Given the description of an element on the screen output the (x, y) to click on. 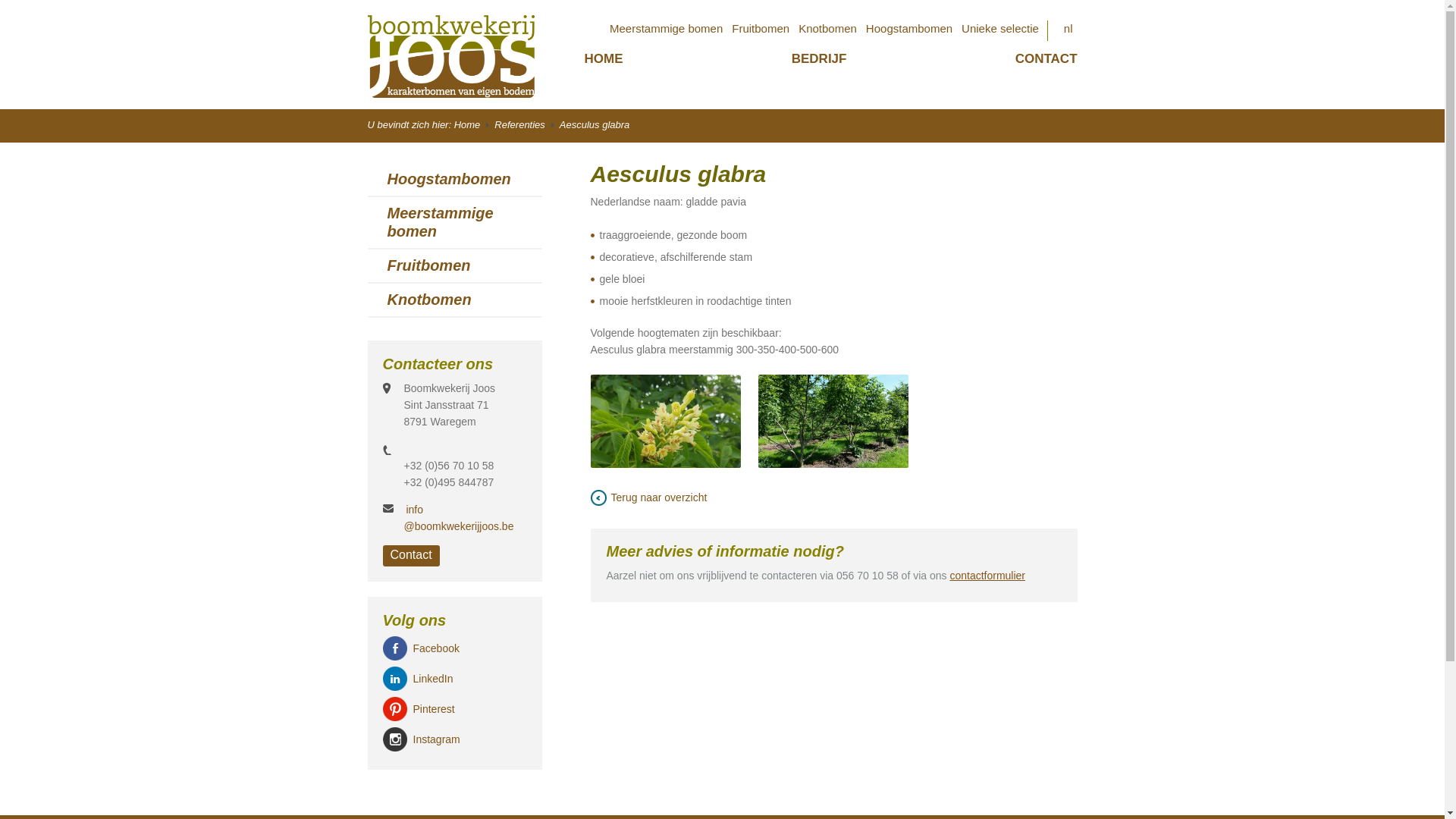
Fruitbomen Element type: text (760, 30)
HOME Element type: text (602, 59)
Terug naar overzicht Element type: text (650, 497)
Knotbomen Element type: text (827, 30)
Meerstammige bomen Element type: text (665, 30)
Contact Element type: text (410, 555)
Hoogstambomen Element type: text (909, 30)
Instagram Element type: text (435, 739)
Referenties Element type: text (523, 124)
Pinterest Element type: text (433, 708)
Knotbomen Element type: text (428, 299)
Hoogstambomen Element type: text (448, 178)
Aesculus glabra 300-350 meerstammig Element type: hover (833, 421)
nl Element type: text (1068, 30)
contactformulier Element type: text (987, 575)
CONTACT Element type: text (1046, 59)
Home Element type: text (471, 124)
LinkedIn Element type: text (432, 678)
Fruitbomen Element type: text (428, 265)
BEDRIJF Element type: text (819, 59)
Aesculus glabra bloei Element type: hover (664, 421)
Facebook Element type: text (435, 648)
Meerstammige bomen Element type: text (439, 221)
info
@boomkwekerijjoos.be Element type: text (458, 517)
Unieke selectie Element type: text (999, 30)
